Given the description of an element on the screen output the (x, y) to click on. 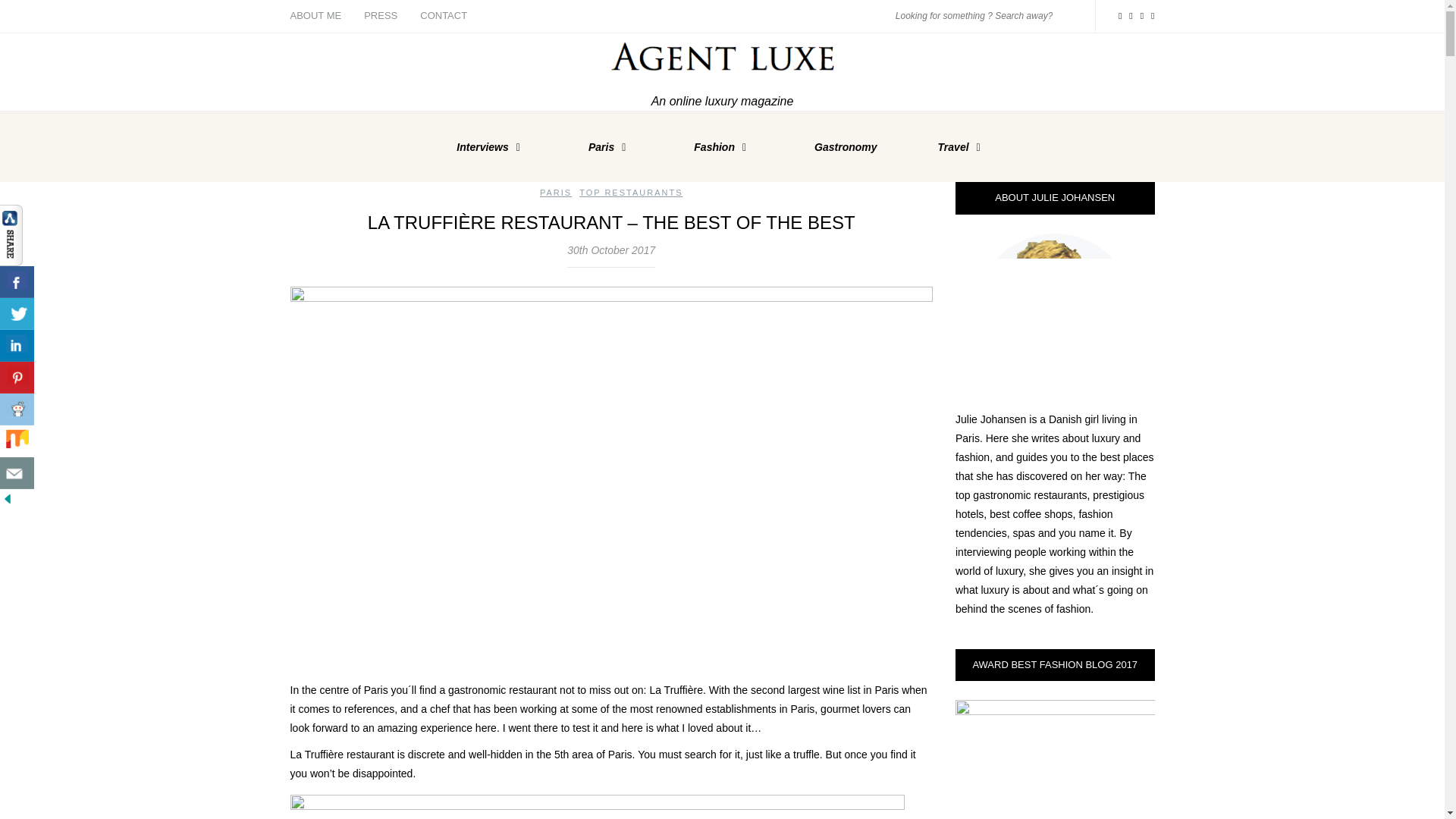
Share On Twitter (16, 314)
Travel (962, 147)
Gastronomy (845, 147)
Share On Linkedin (16, 345)
Search (1069, 15)
Share On Pinterest (16, 377)
CONTACT (444, 16)
Share On Facebook (16, 282)
Paris (610, 147)
PRESS (380, 16)
Search (1069, 15)
Interviews (491, 147)
ABOUT ME (320, 16)
Share This With Your Friends (18, 355)
Fashion (723, 147)
